Given the description of an element on the screen output the (x, y) to click on. 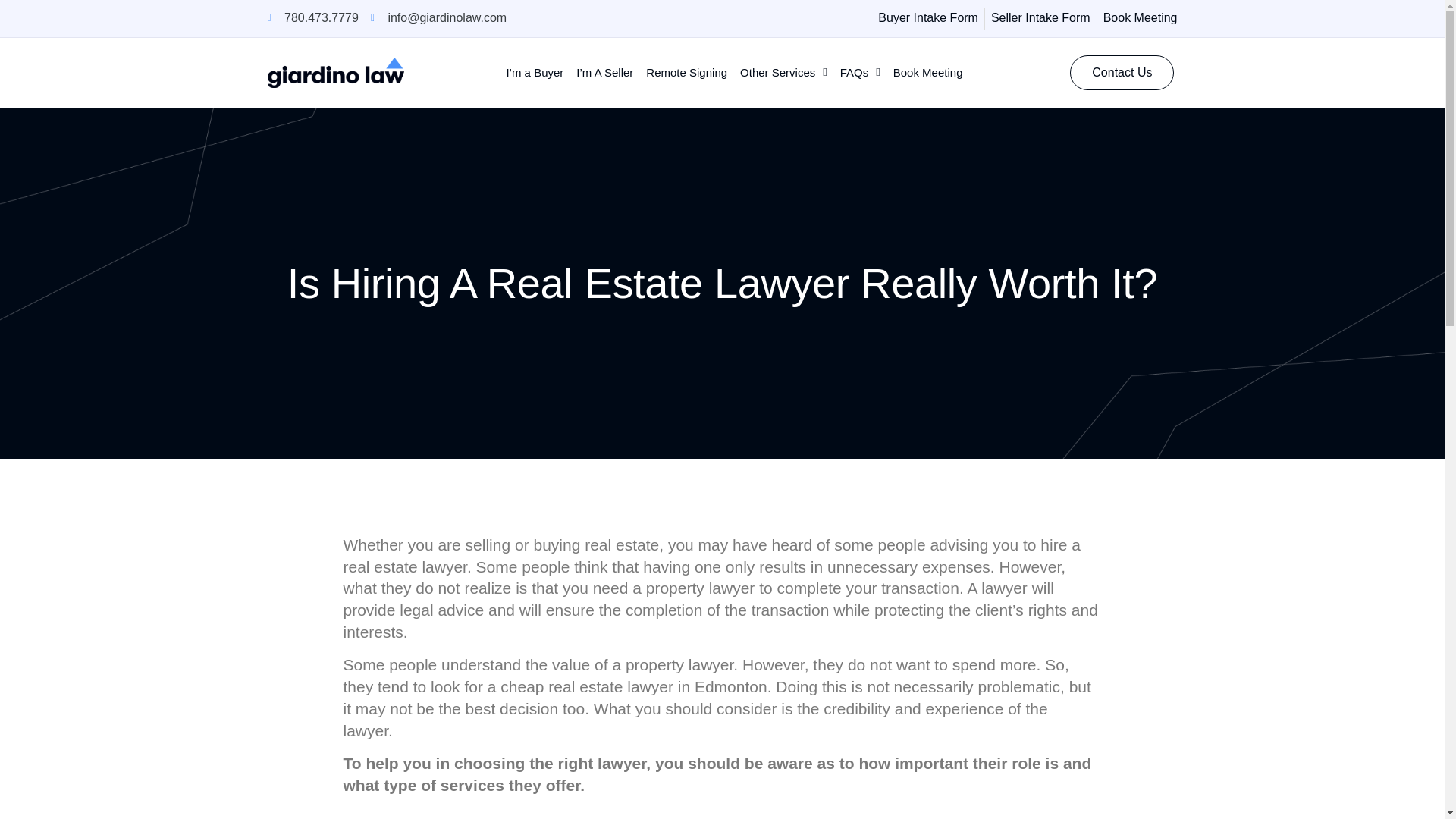
Remote Signing (687, 72)
FAQs (860, 72)
Seller Intake Form (1040, 18)
Buyer Intake Form (927, 18)
780.473.7779 (312, 18)
Contact Us (1121, 72)
Other Services (783, 72)
Book Meeting (928, 72)
Book Meeting (1140, 18)
